Given the description of an element on the screen output the (x, y) to click on. 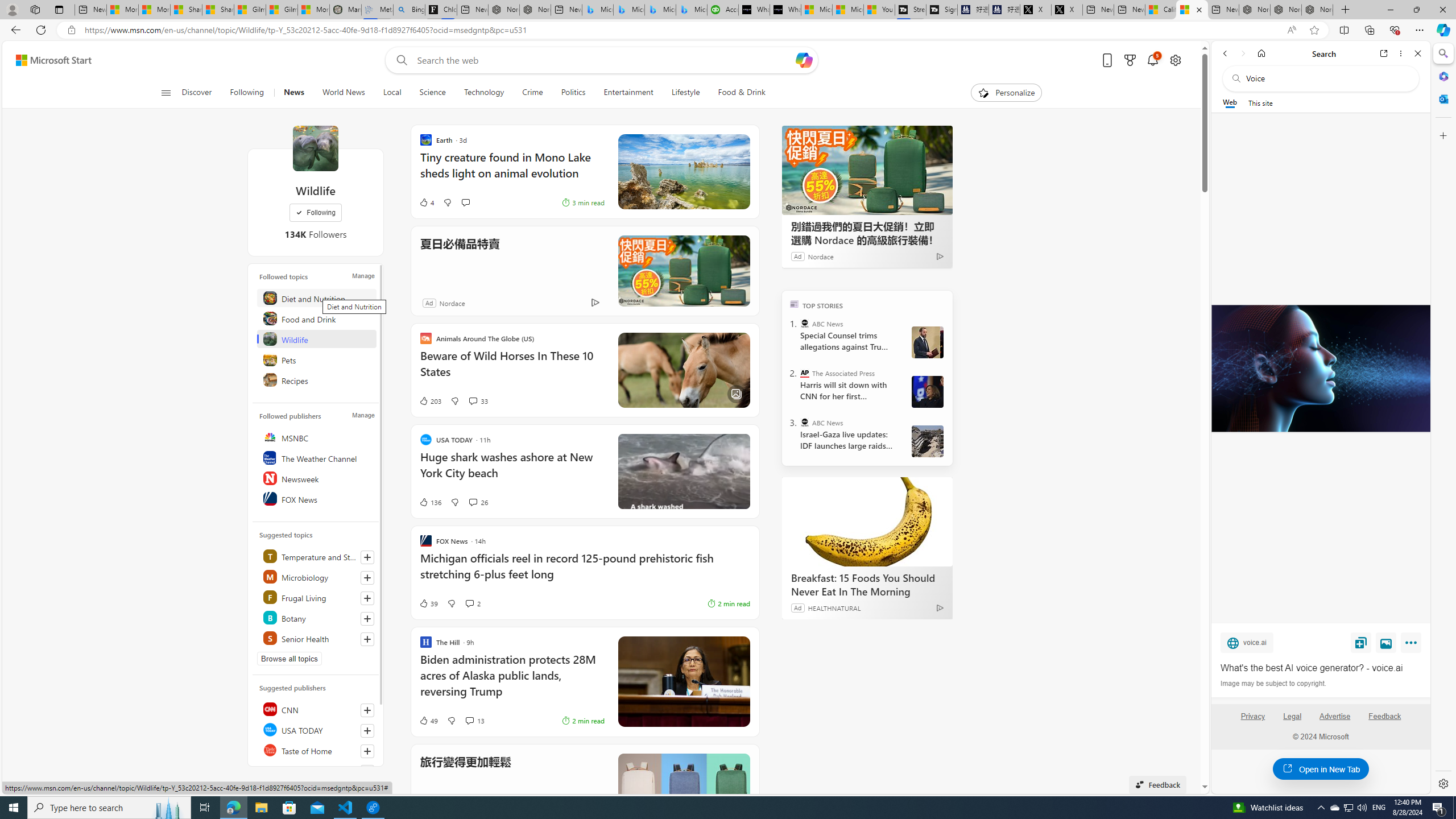
Accounting Software for Accountants, CPAs and Bookkeepers (722, 9)
Legal (1291, 715)
Class: highlight (317, 637)
Taste of Home (317, 750)
Pets (317, 359)
NBC News (317, 770)
Microsoft Bing Travel - Stays in Bangkok, Bangkok, Thailand (628, 9)
USA TODAY (317, 729)
